Given the description of an element on the screen output the (x, y) to click on. 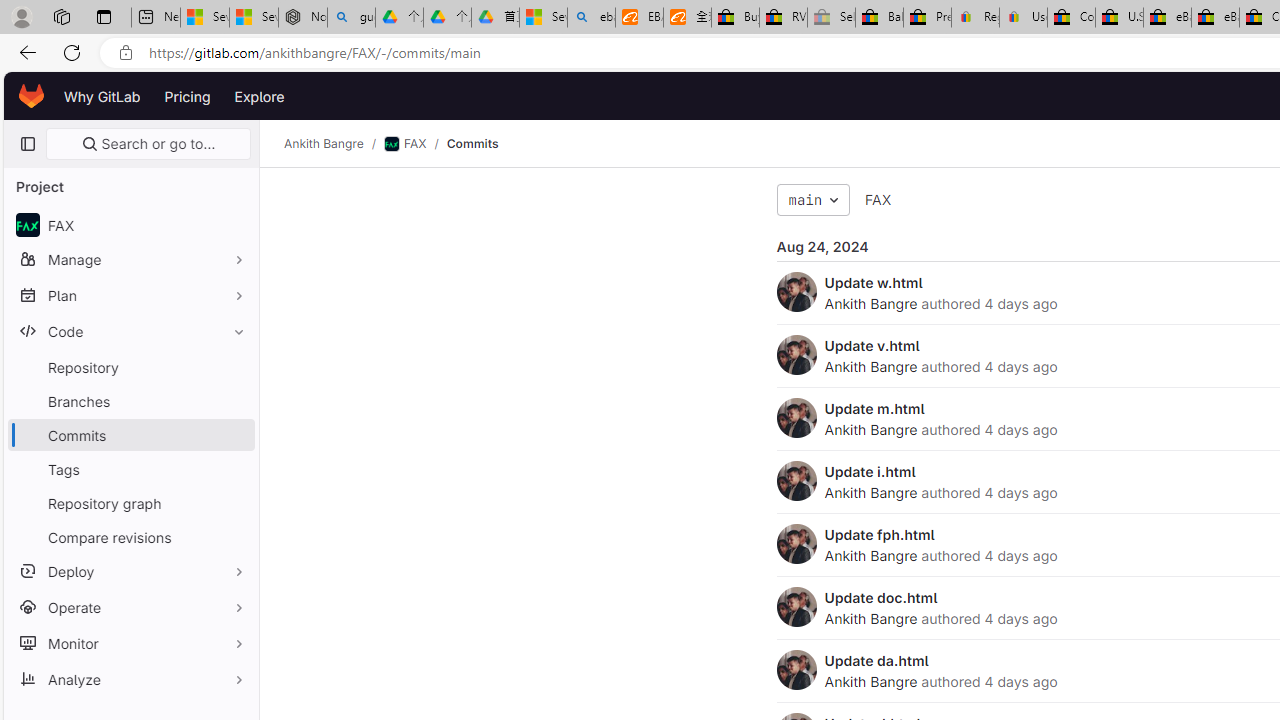
Repository (130, 367)
Baby Keepsakes & Announcements for sale | eBay (879, 17)
guge yunpan - Search (351, 17)
Update v.html (872, 345)
Sell worldwide with eBay - Sleeping (831, 17)
Update w.html (873, 282)
Operate (130, 606)
Press Room - eBay Inc. (927, 17)
Homepage (31, 95)
Update fph.html (879, 534)
Consumer Health Data Privacy Policy - eBay Inc. (1071, 17)
Compare revisions (130, 536)
Branches (130, 400)
